Given the description of an element on the screen output the (x, y) to click on. 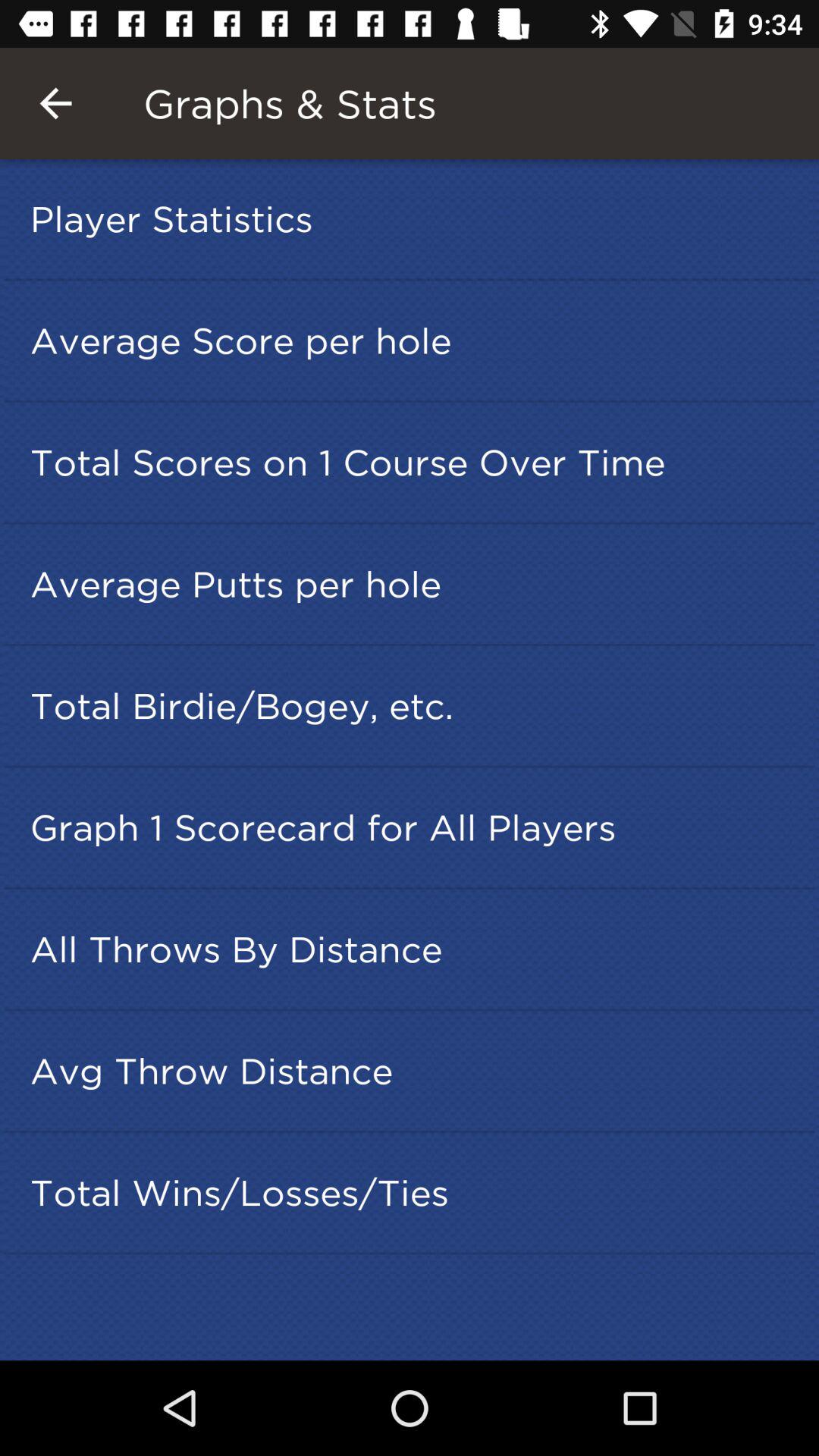
turn off item above average putts per item (414, 462)
